Given the description of an element on the screen output the (x, y) to click on. 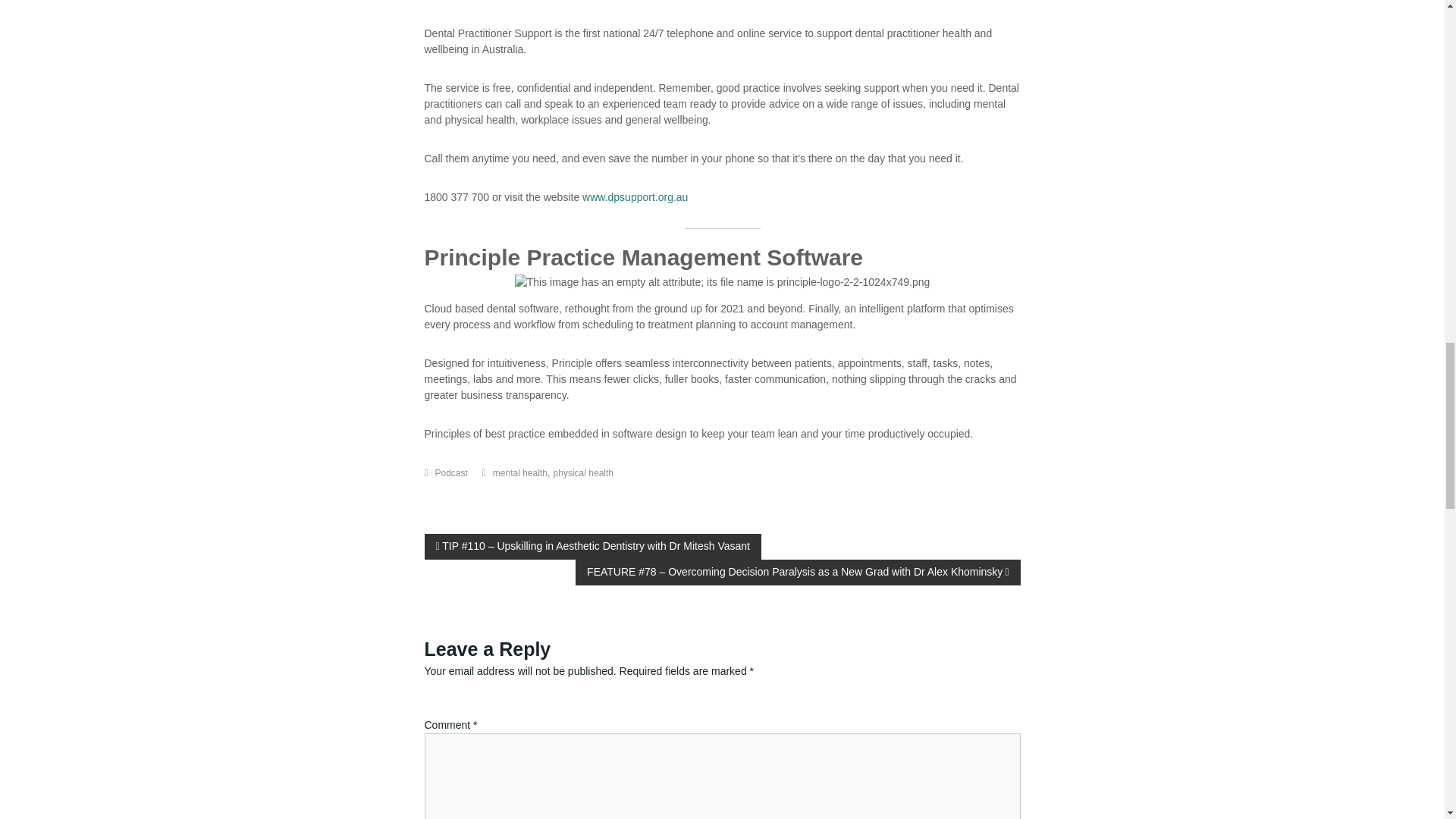
Podcast (451, 471)
mental health (520, 471)
www.dpsupport.org.au (633, 196)
